Given the description of an element on the screen output the (x, y) to click on. 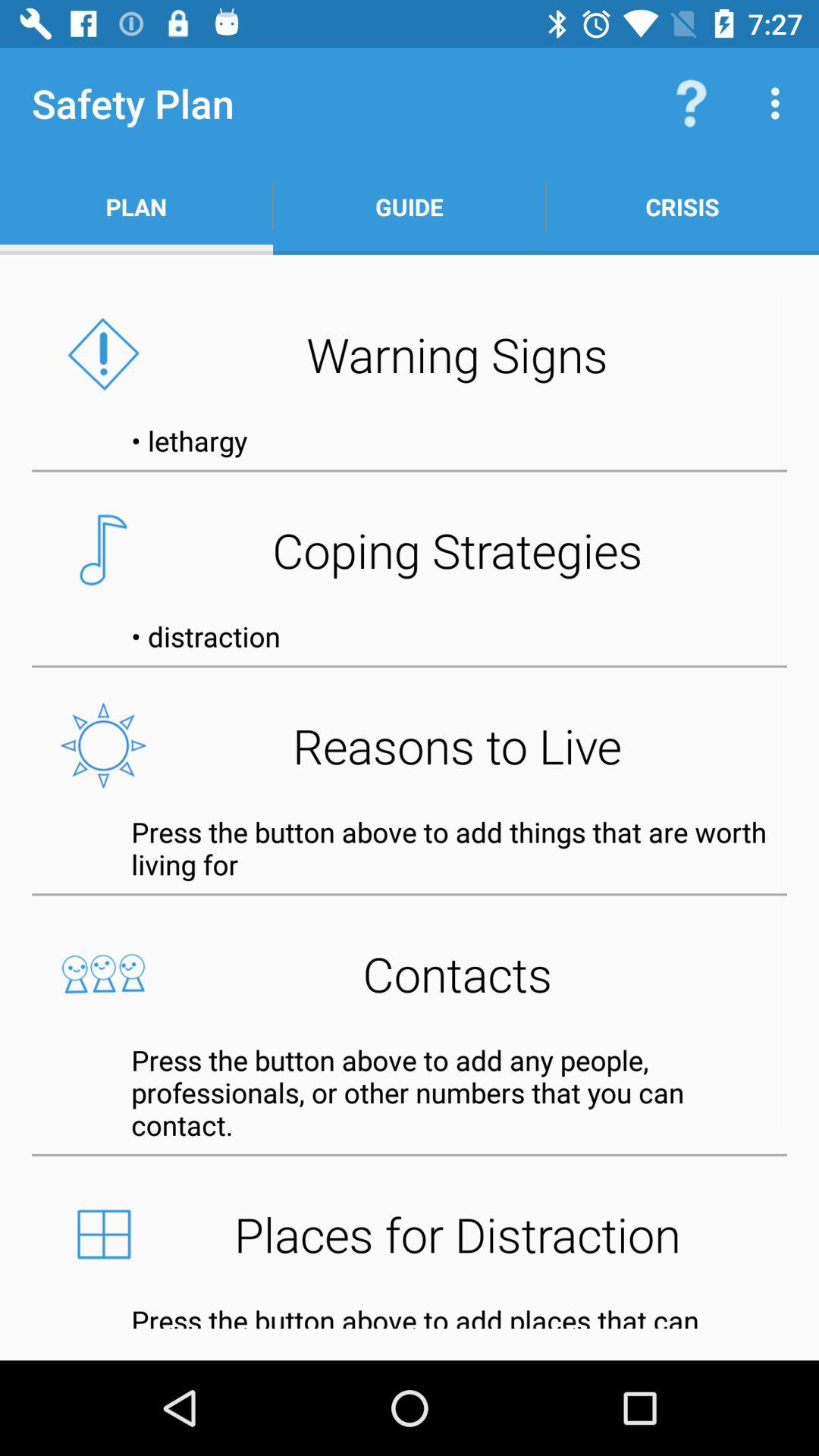
choose icon above press the button (409, 973)
